Given the description of an element on the screen output the (x, y) to click on. 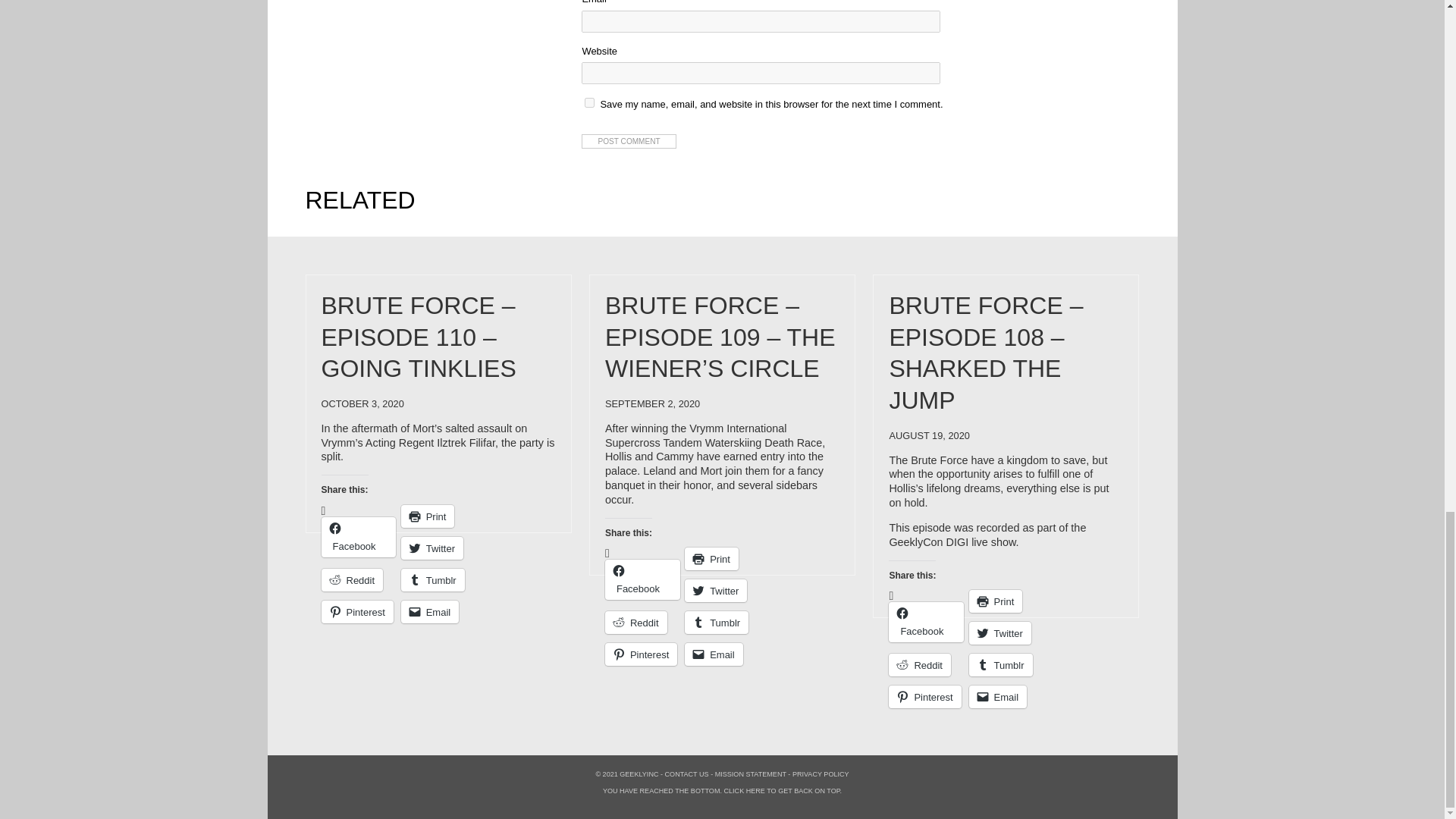
yes (589, 102)
Post Comment (627, 141)
